Given the description of an element on the screen output the (x, y) to click on. 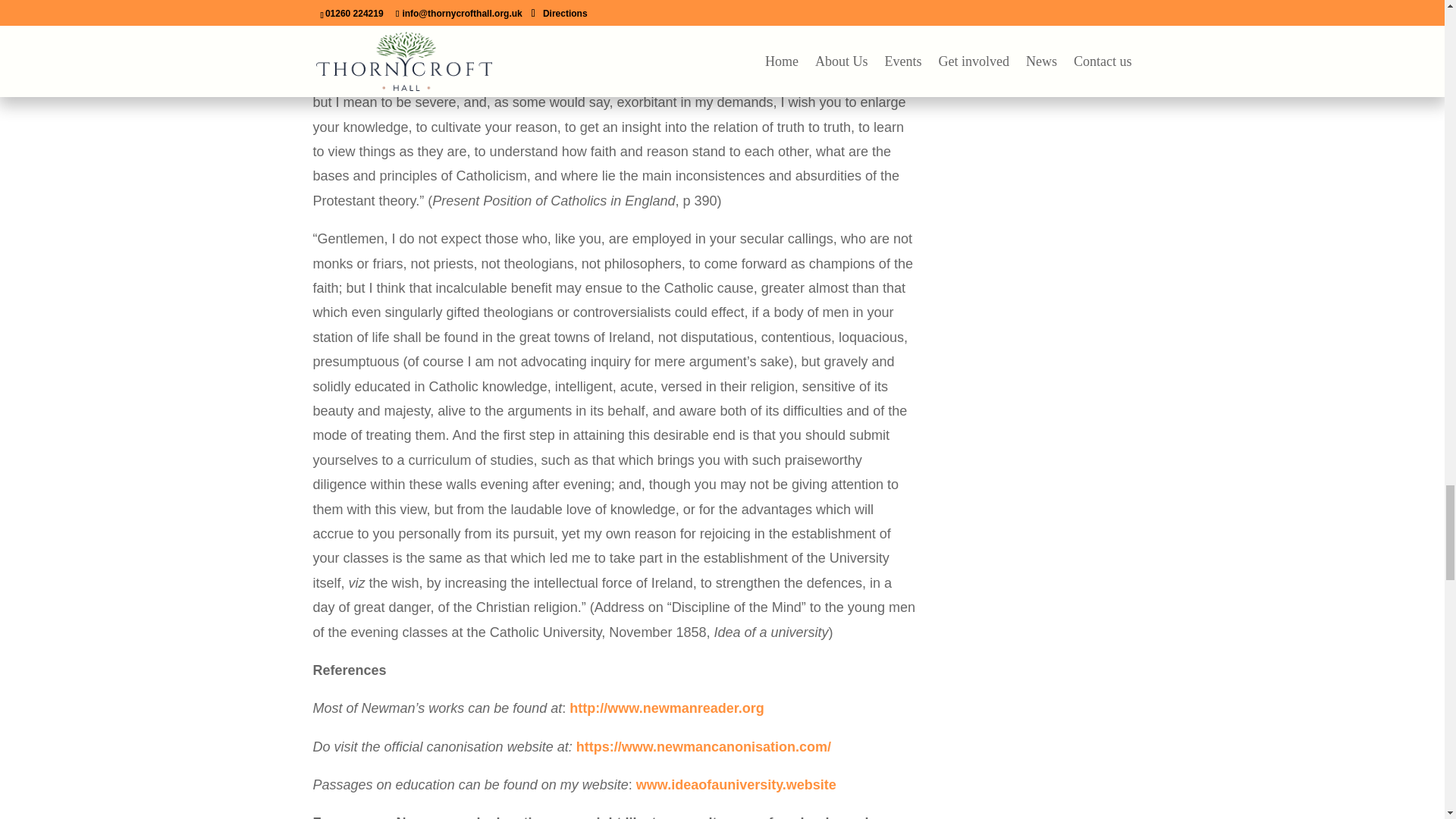
www.ideaofauniversity.website (735, 784)
